Given the description of an element on the screen output the (x, y) to click on. 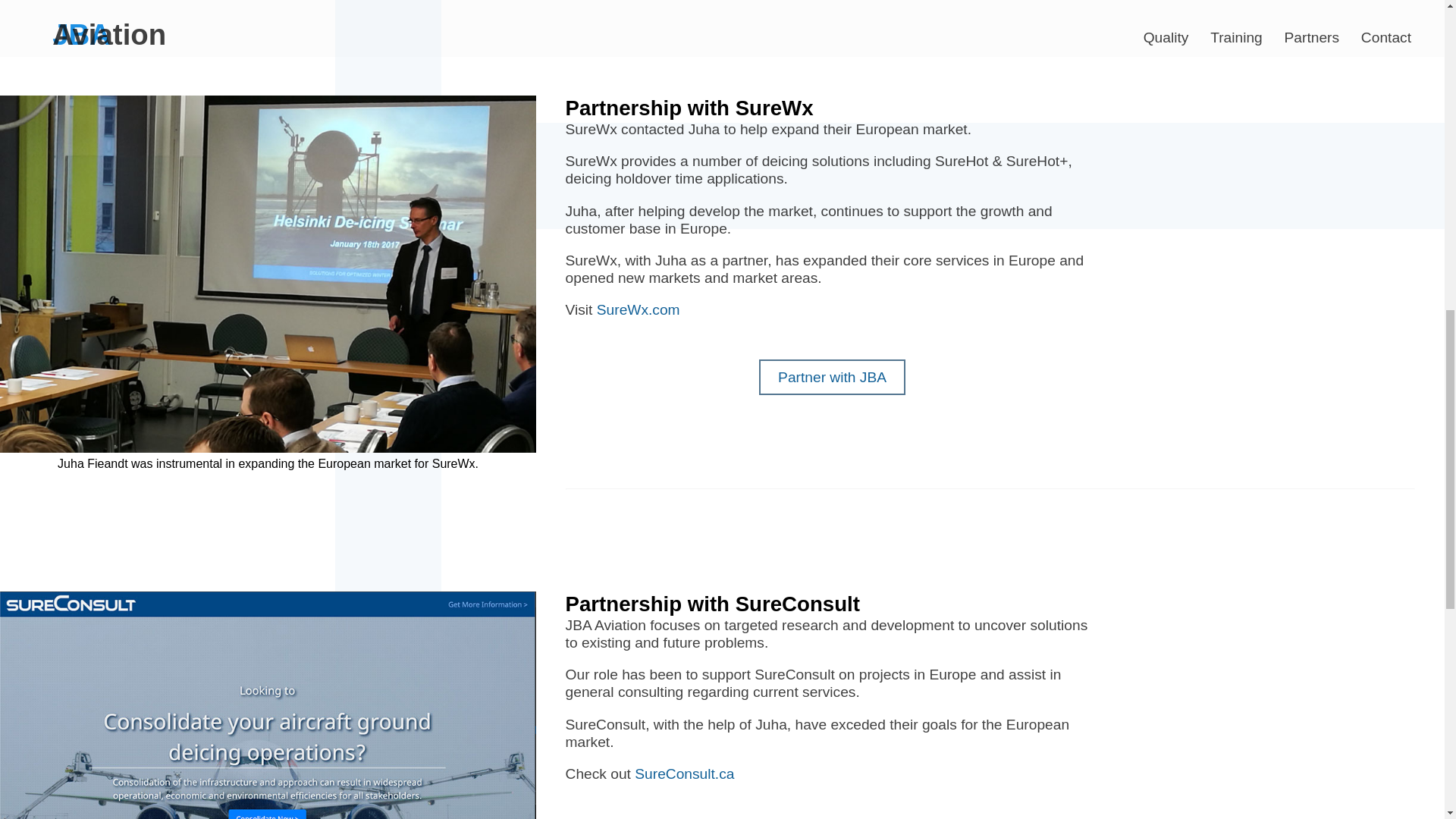
SureWx.com (637, 309)
Partner with JBA (831, 376)
SureConsult.ca (683, 773)
